Given the description of an element on the screen output the (x, y) to click on. 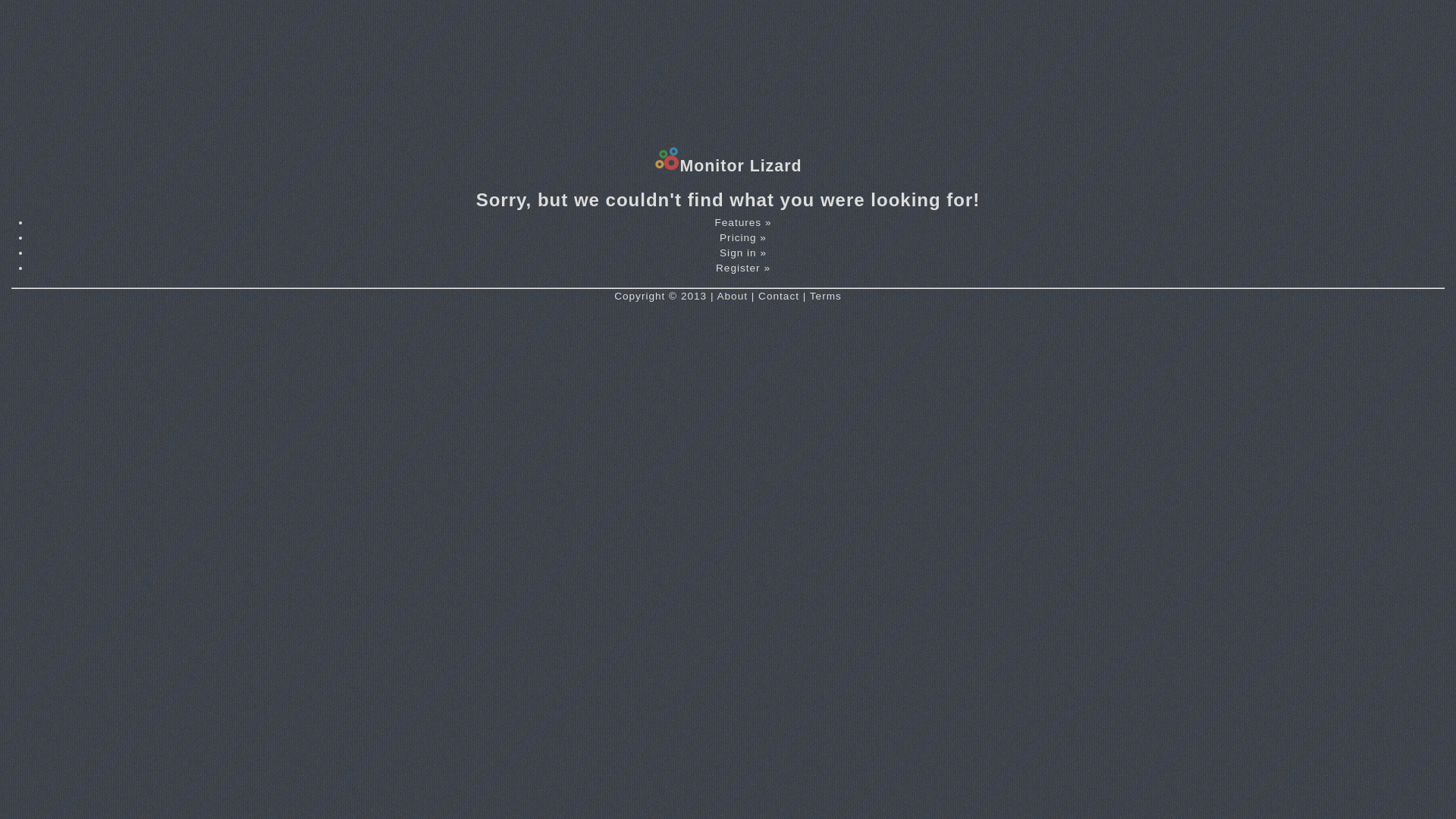
Terms Element type: text (825, 295)
Monitor Lizard Element type: text (728, 165)
About Element type: text (731, 295)
Contact Element type: text (778, 295)
